Given the description of an element on the screen output the (x, y) to click on. 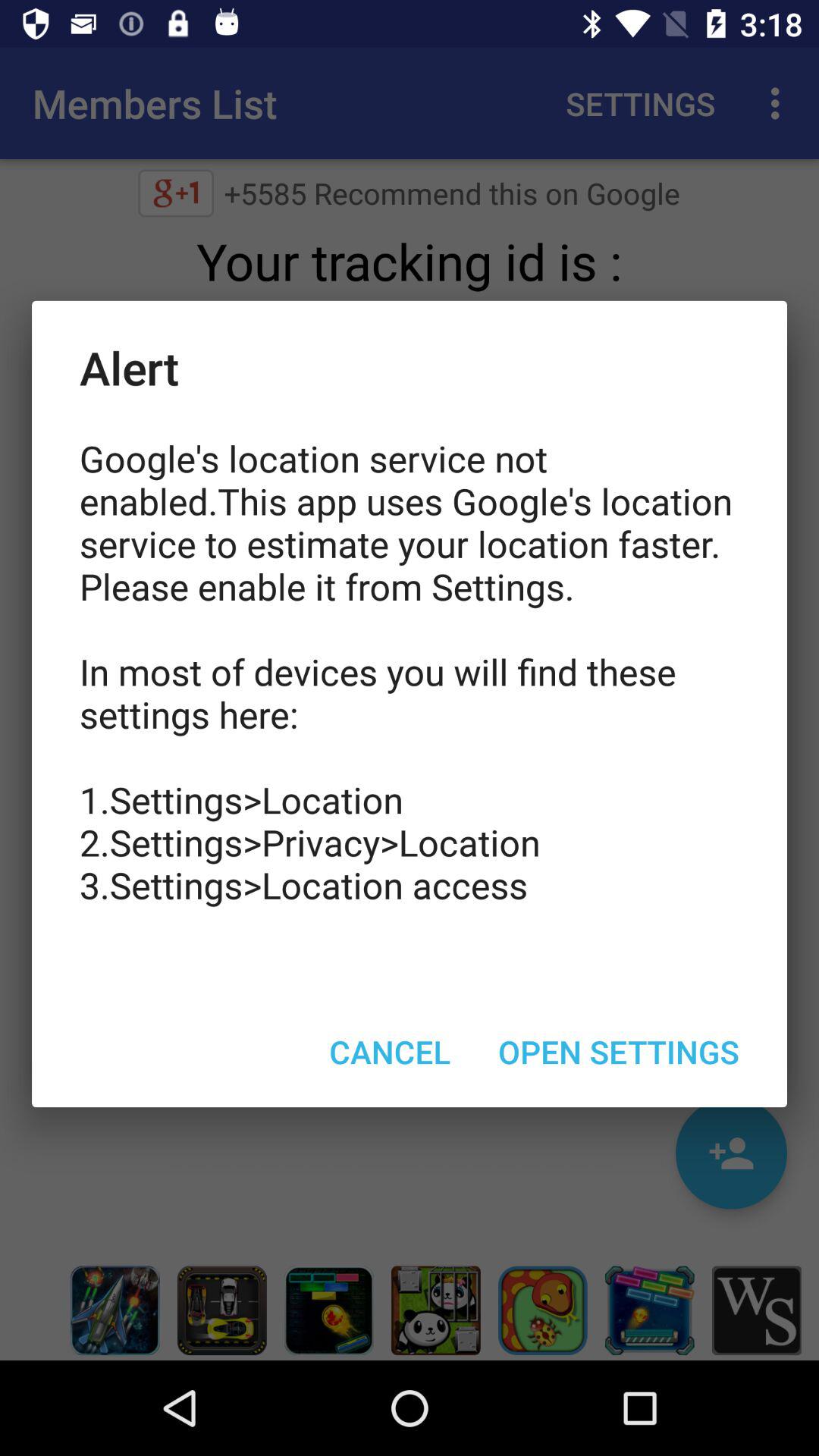
choose icon to the right of the cancel item (618, 1051)
